Given the description of an element on the screen output the (x, y) to click on. 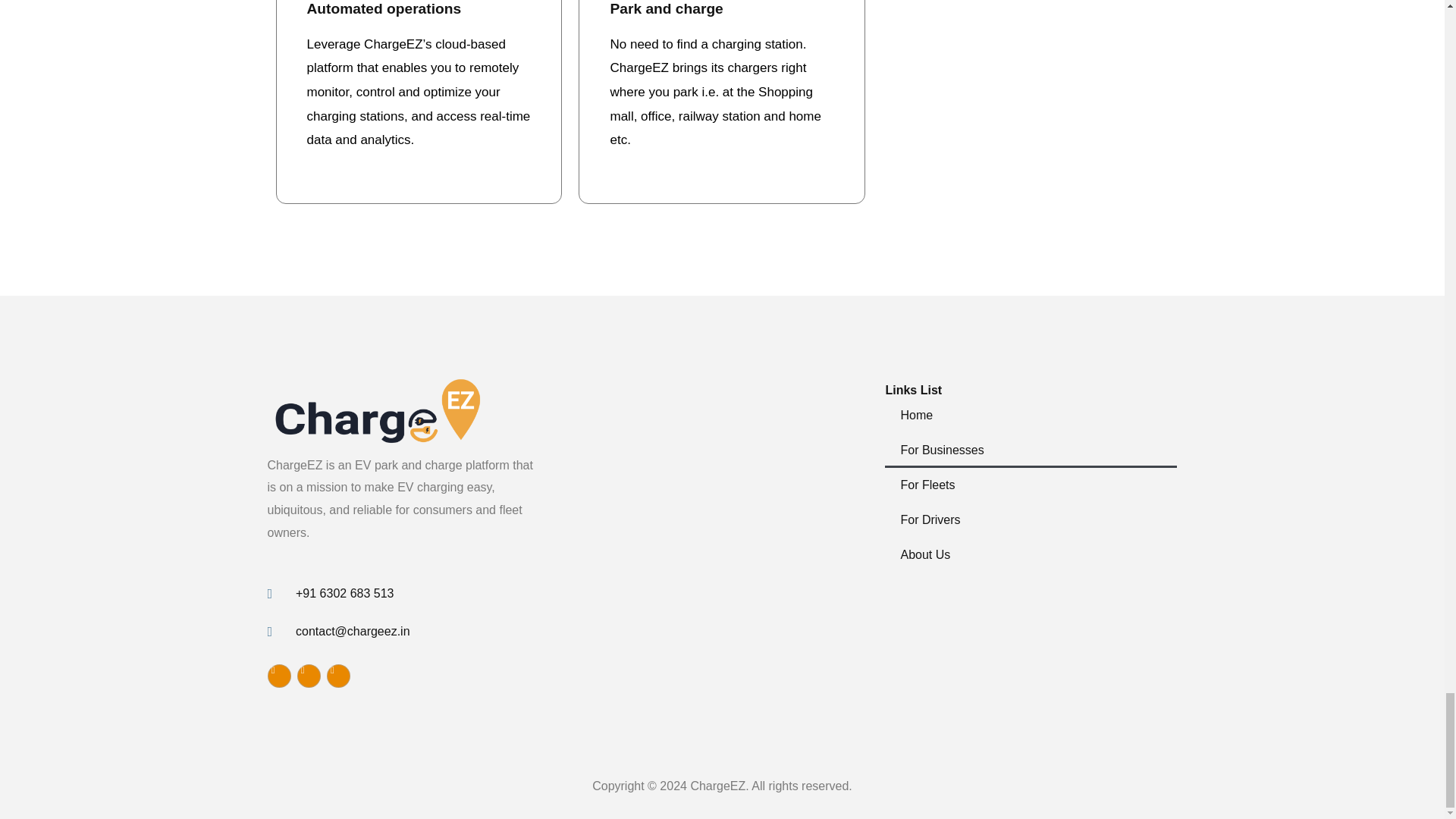
Park and charge (666, 8)
Automated operations (383, 8)
Facebook-f (277, 675)
